Given the description of an element on the screen output the (x, y) to click on. 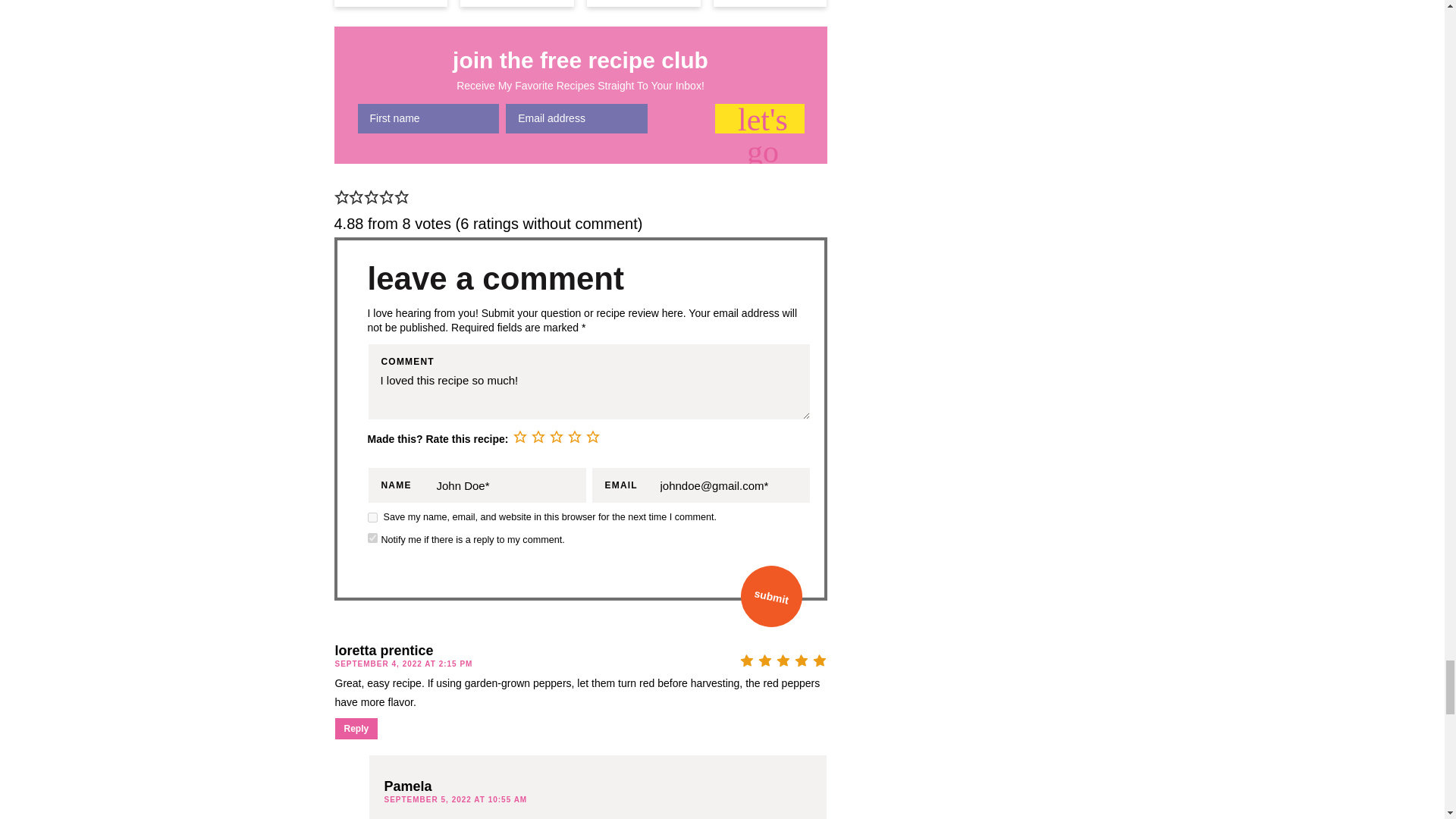
yes (371, 517)
on (371, 537)
Submit (765, 590)
